Given the description of an element on the screen output the (x, y) to click on. 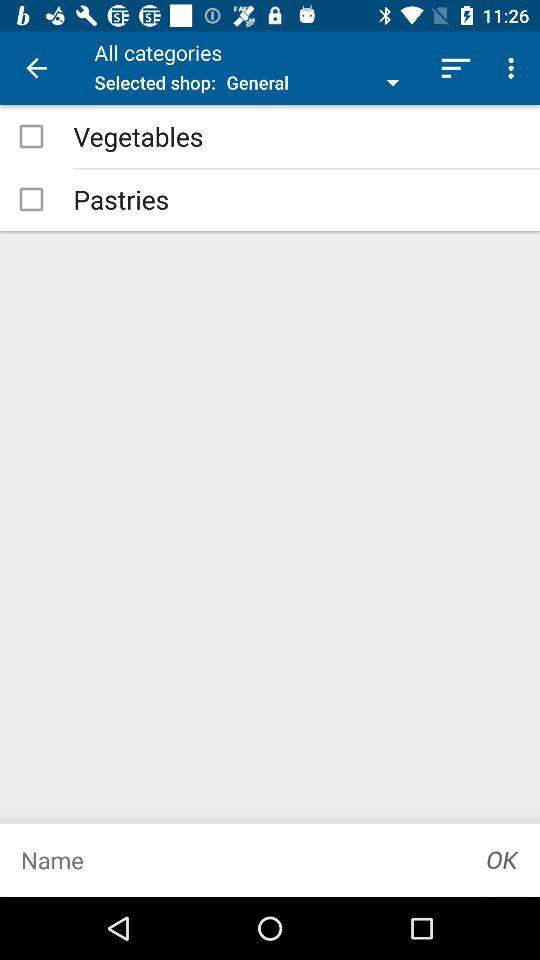
submit entries (503, 860)
